Given the description of an element on the screen output the (x, y) to click on. 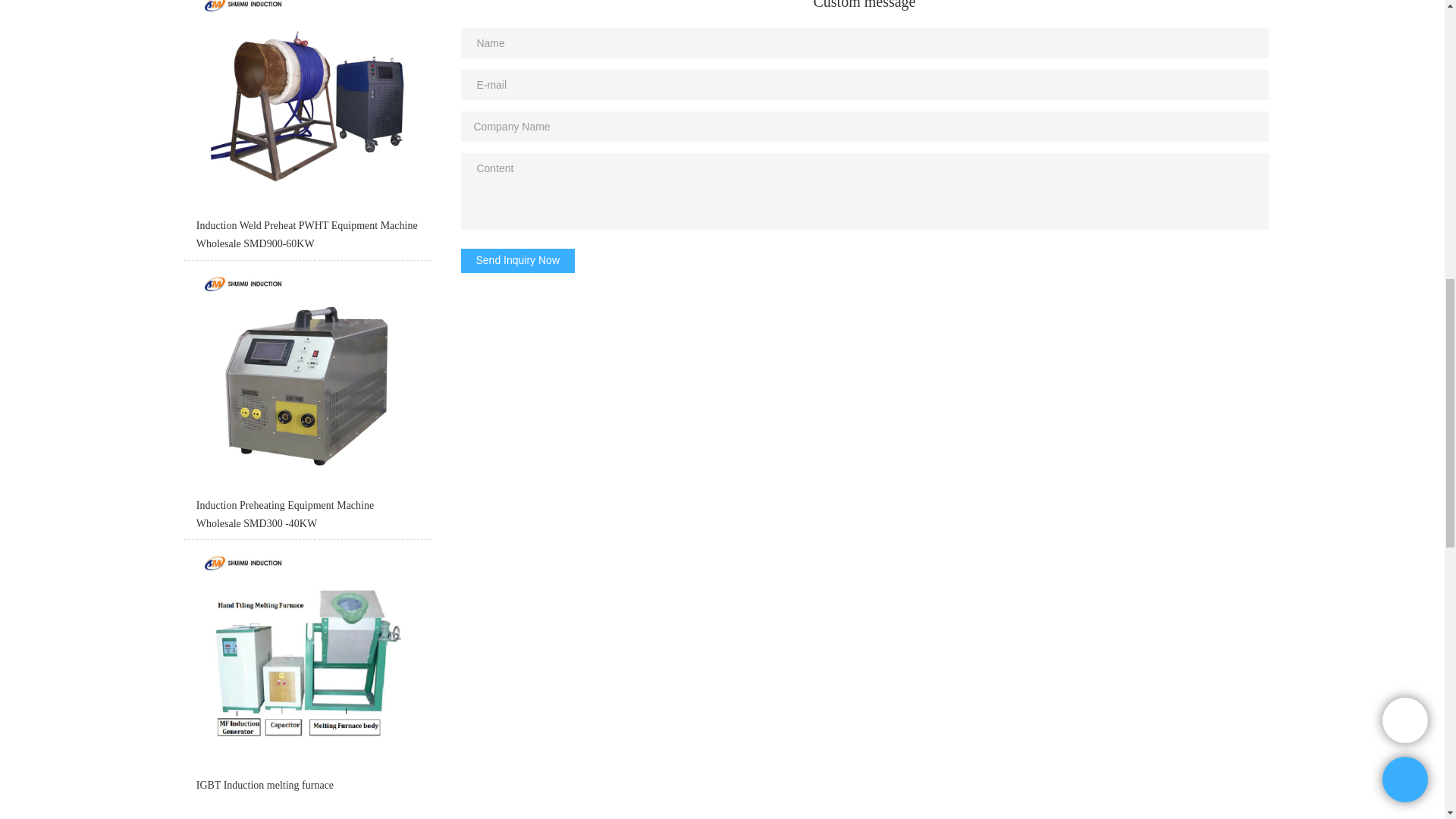
Send Inquiry Now (518, 260)
IGBT Induction melting furnace (306, 673)
